Given the description of an element on the screen output the (x, y) to click on. 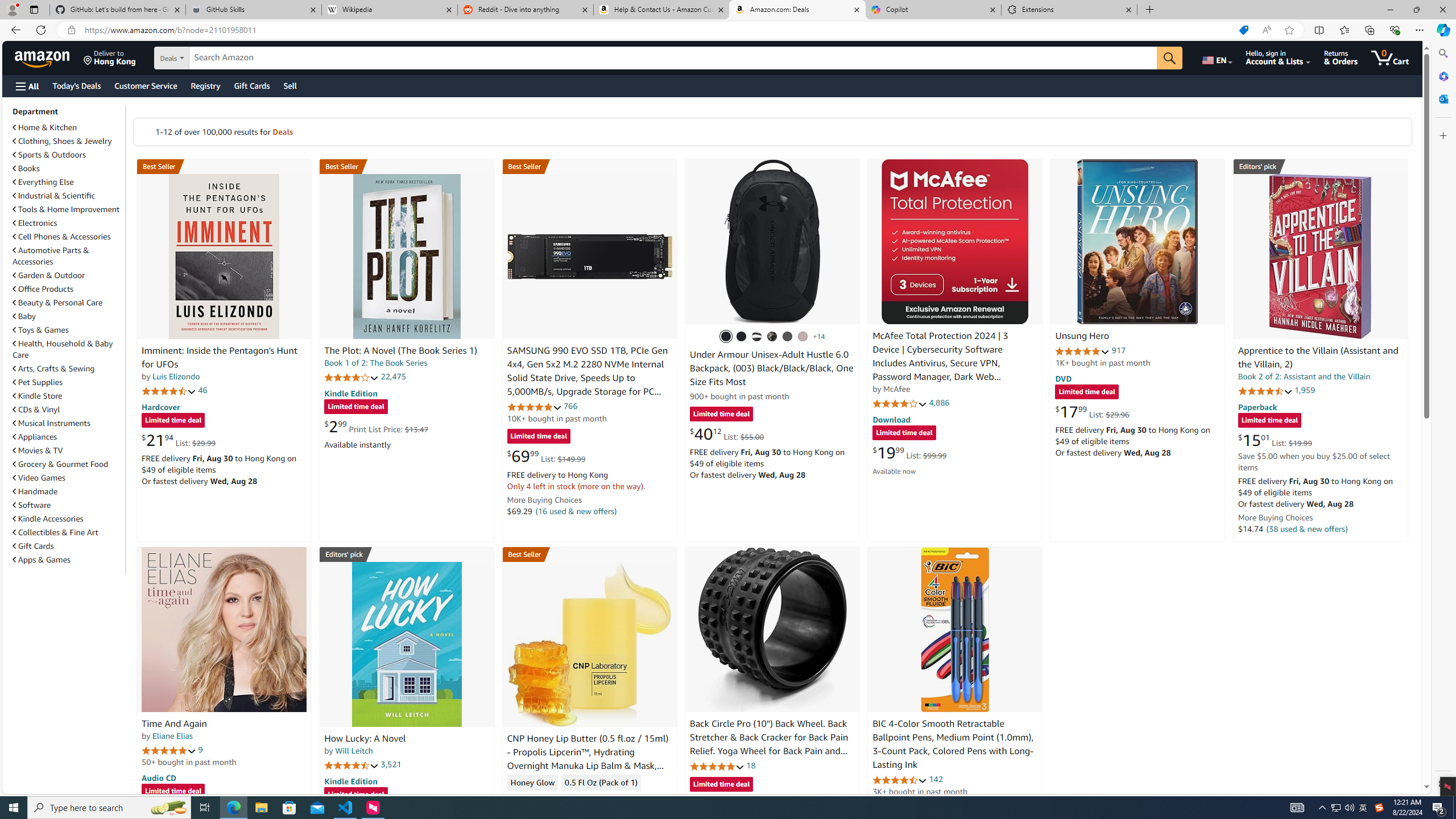
5.0 out of 5 stars (168, 750)
Clothing, Shoes & Jewelry (62, 140)
(015) Tetra Gray / Tetra Gray / Gray Matter (802, 336)
Kindle Store (67, 395)
Gift Cards (33, 545)
Time And Again (173, 723)
Musical Instruments (51, 422)
Health, Household & Baby Care (67, 348)
4.1 out of 5 stars (899, 403)
Industrial & Scientific (54, 195)
Garden & Outdoor (49, 275)
Everything Else (43, 181)
Apprentice to the Villain (Assistant and the Villain, 2) (1318, 358)
Shopping in Microsoft Edge (1243, 29)
